Given the description of an element on the screen output the (x, y) to click on. 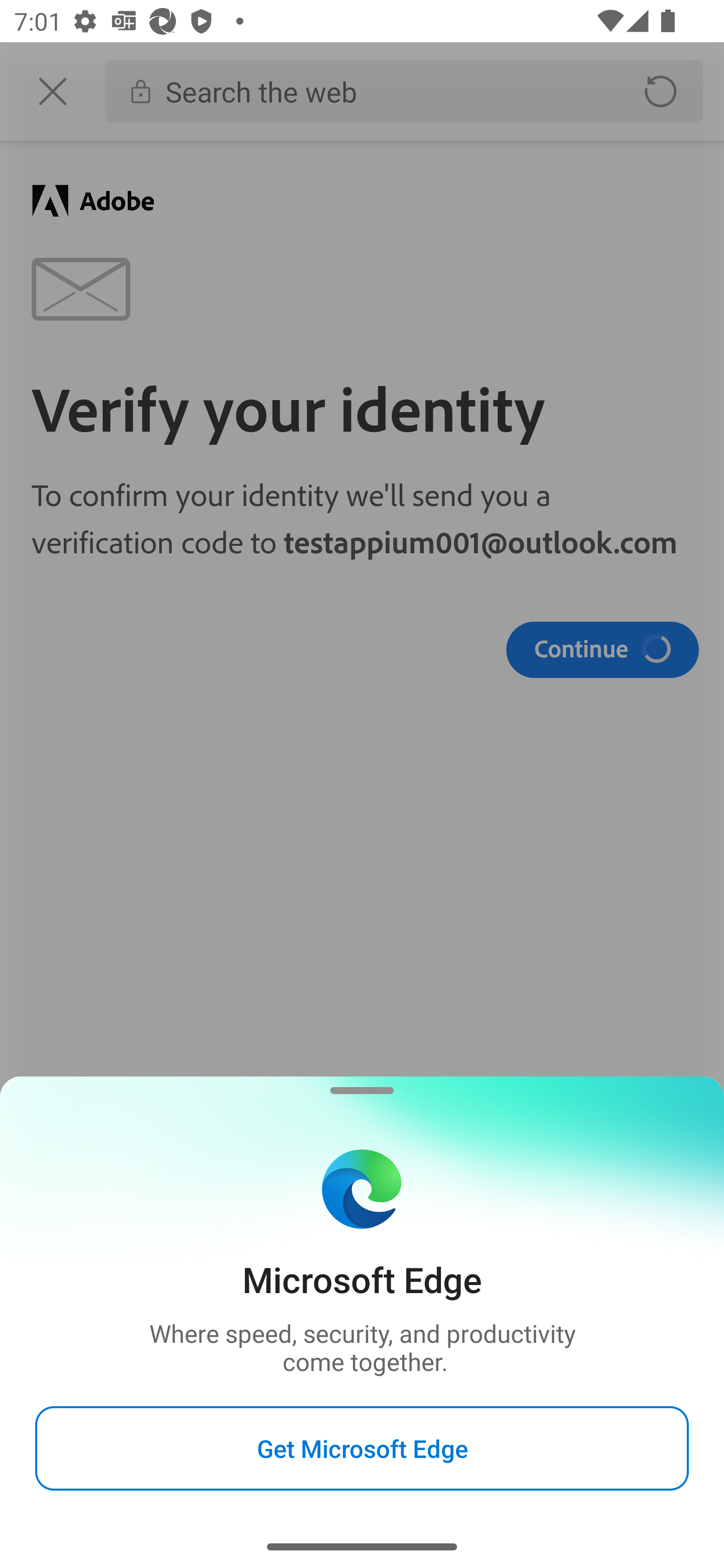
Get Microsoft Edge (361, 1448)
